Given the description of an element on the screen output the (x, y) to click on. 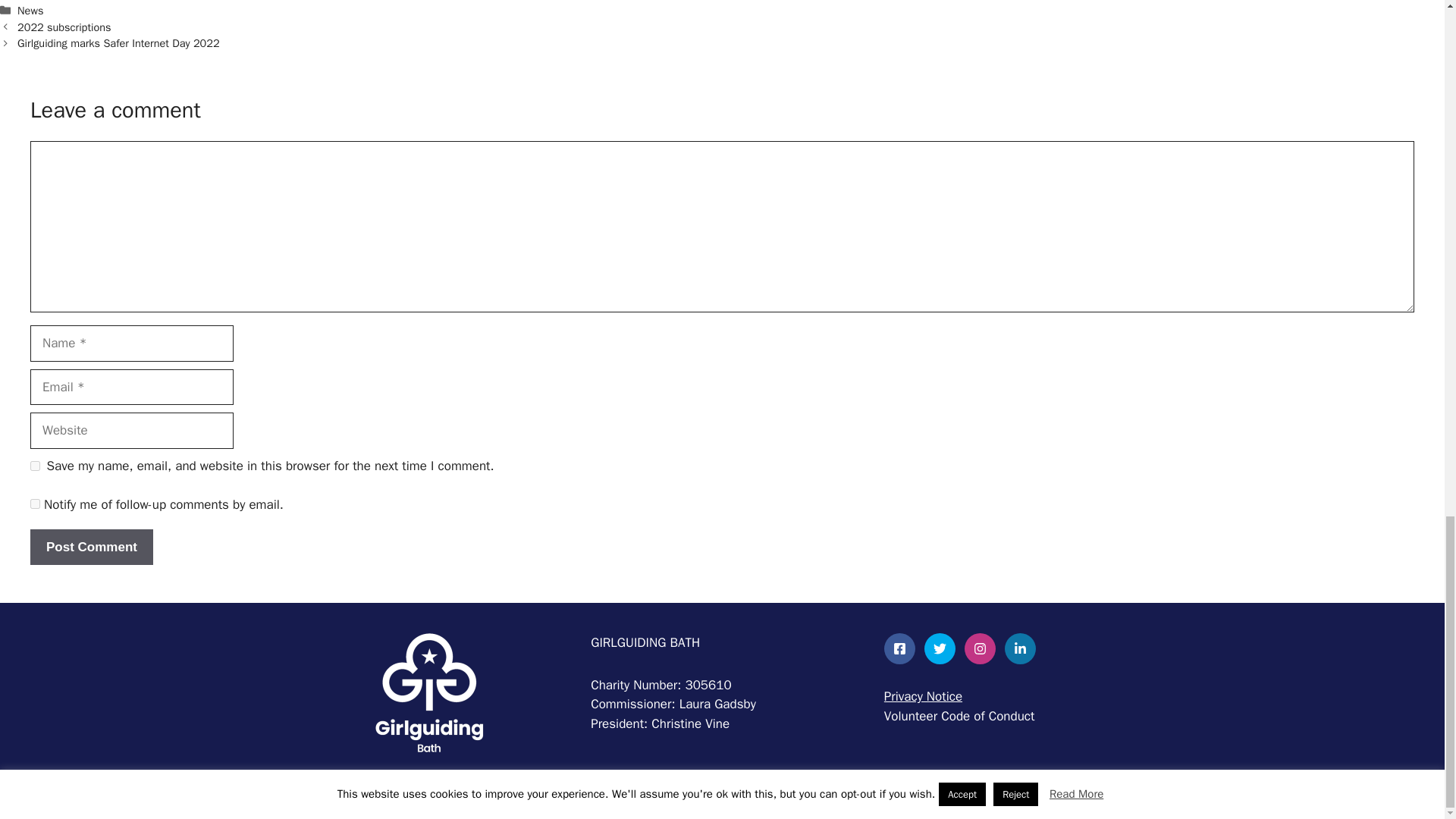
Post Comment (91, 547)
Girlguiding marks Safer Internet Day 2022 (118, 42)
Privacy Notice (922, 696)
subscribe (35, 503)
News (30, 10)
Scroll back to top (1406, 117)
Post Comment (91, 547)
Volunteer Code of Conduct (959, 715)
yes (35, 465)
2022 subscriptions (63, 27)
